Given the description of an element on the screen output the (x, y) to click on. 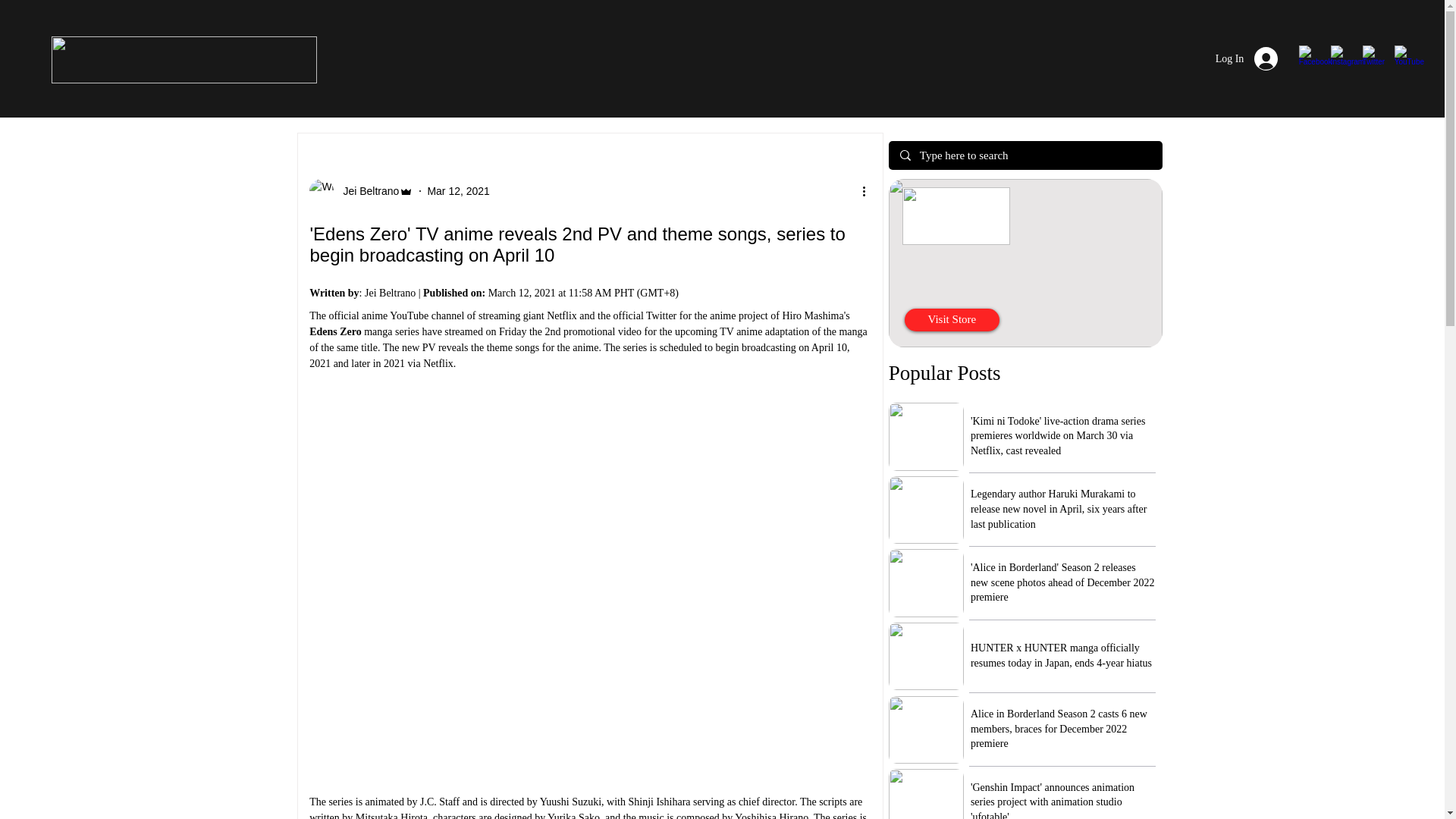
Mar 12, 2021 (457, 191)
Jei Beltrano (365, 191)
Log In (1246, 58)
Jei Beltrano (360, 191)
